Given the description of an element on the screen output the (x, y) to click on. 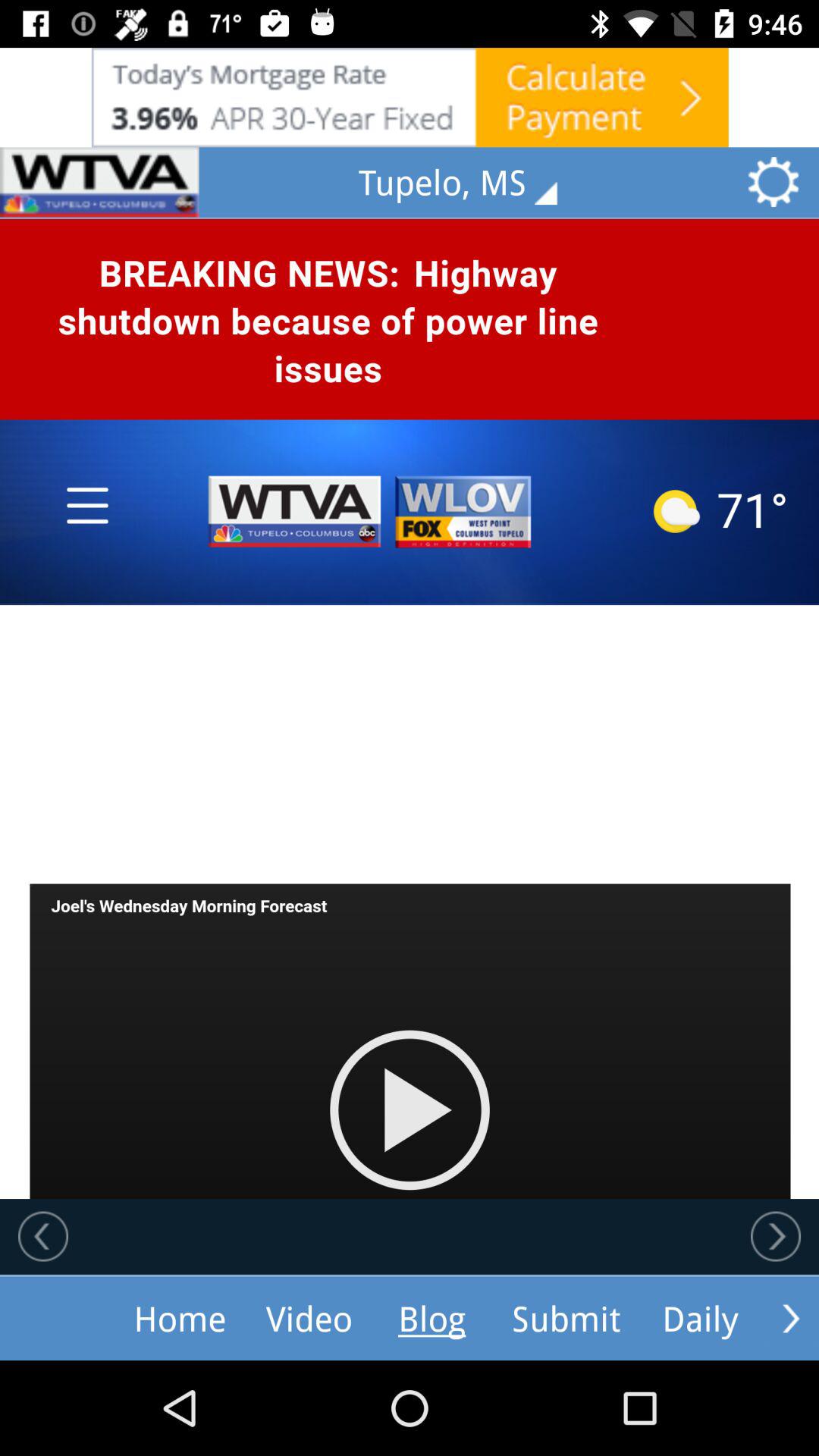
ask add selection (99, 182)
